Given the description of an element on the screen output the (x, y) to click on. 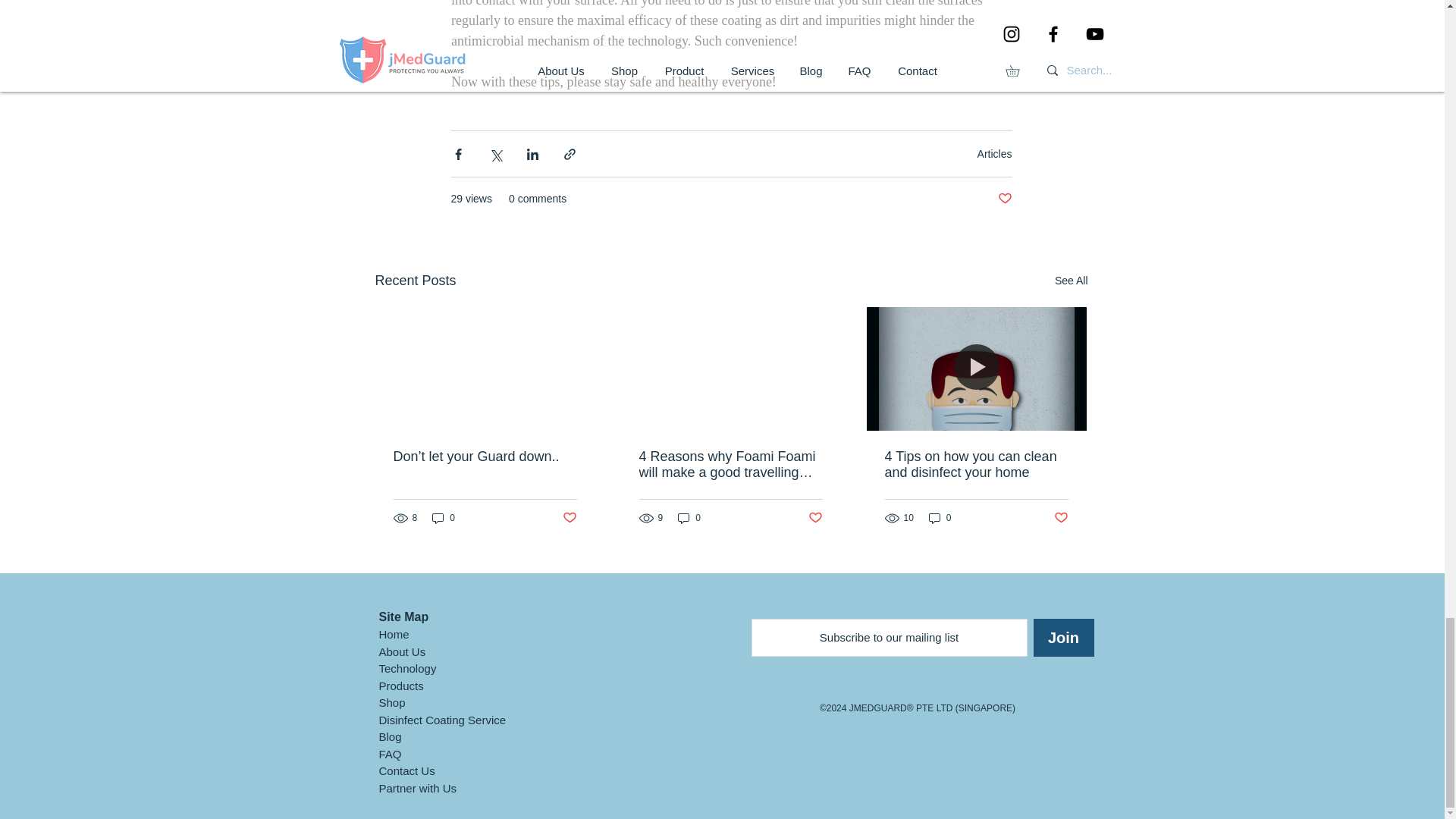
Post not marked as liked (1004, 198)
See All (1070, 280)
0 (443, 518)
Post not marked as liked (569, 518)
Post not marked as liked (815, 518)
0 (689, 518)
Articles (993, 153)
